Given the description of an element on the screen output the (x, y) to click on. 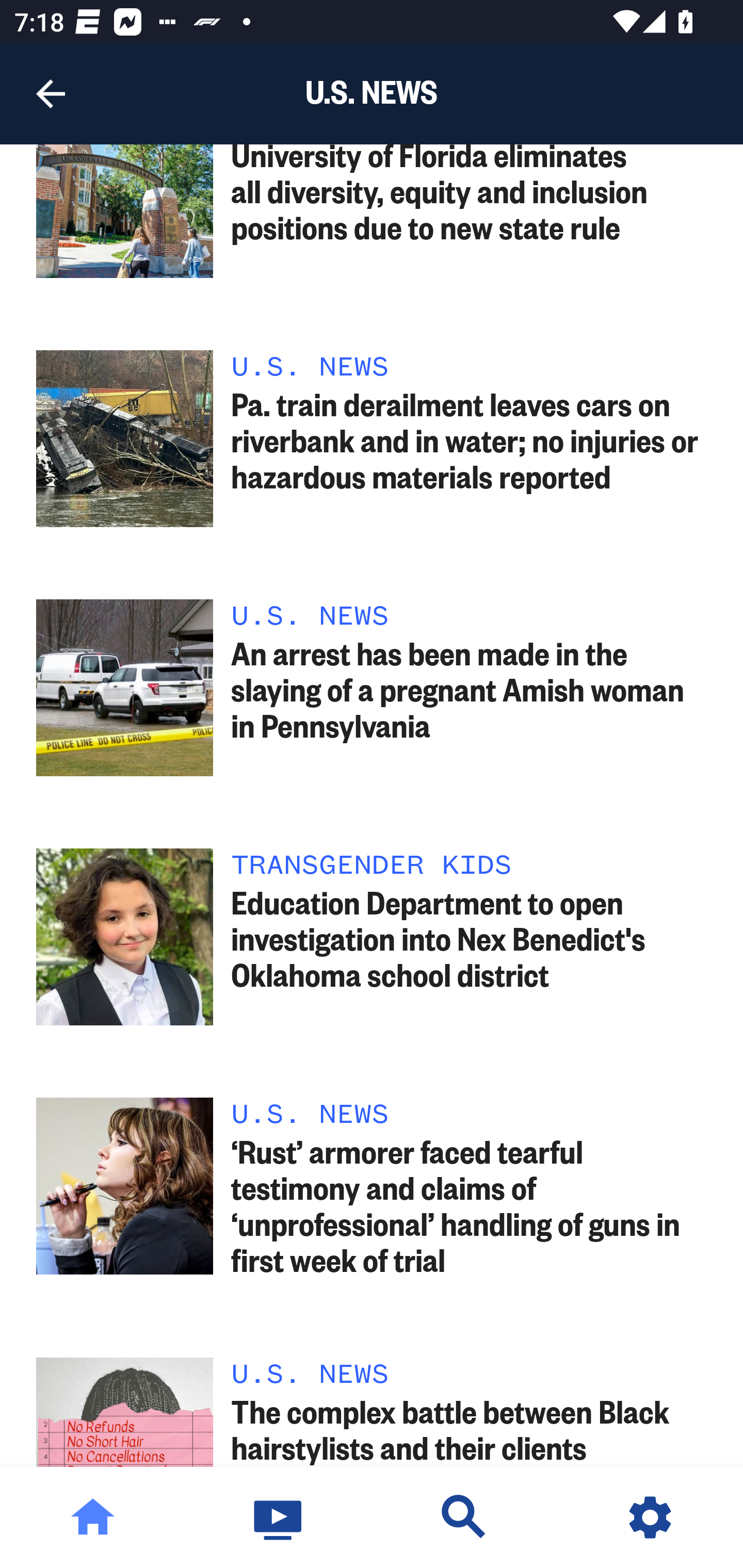
Navigate up (50, 93)
Watch (278, 1517)
Discover (464, 1517)
Settings (650, 1517)
